Given the description of an element on the screen output the (x, y) to click on. 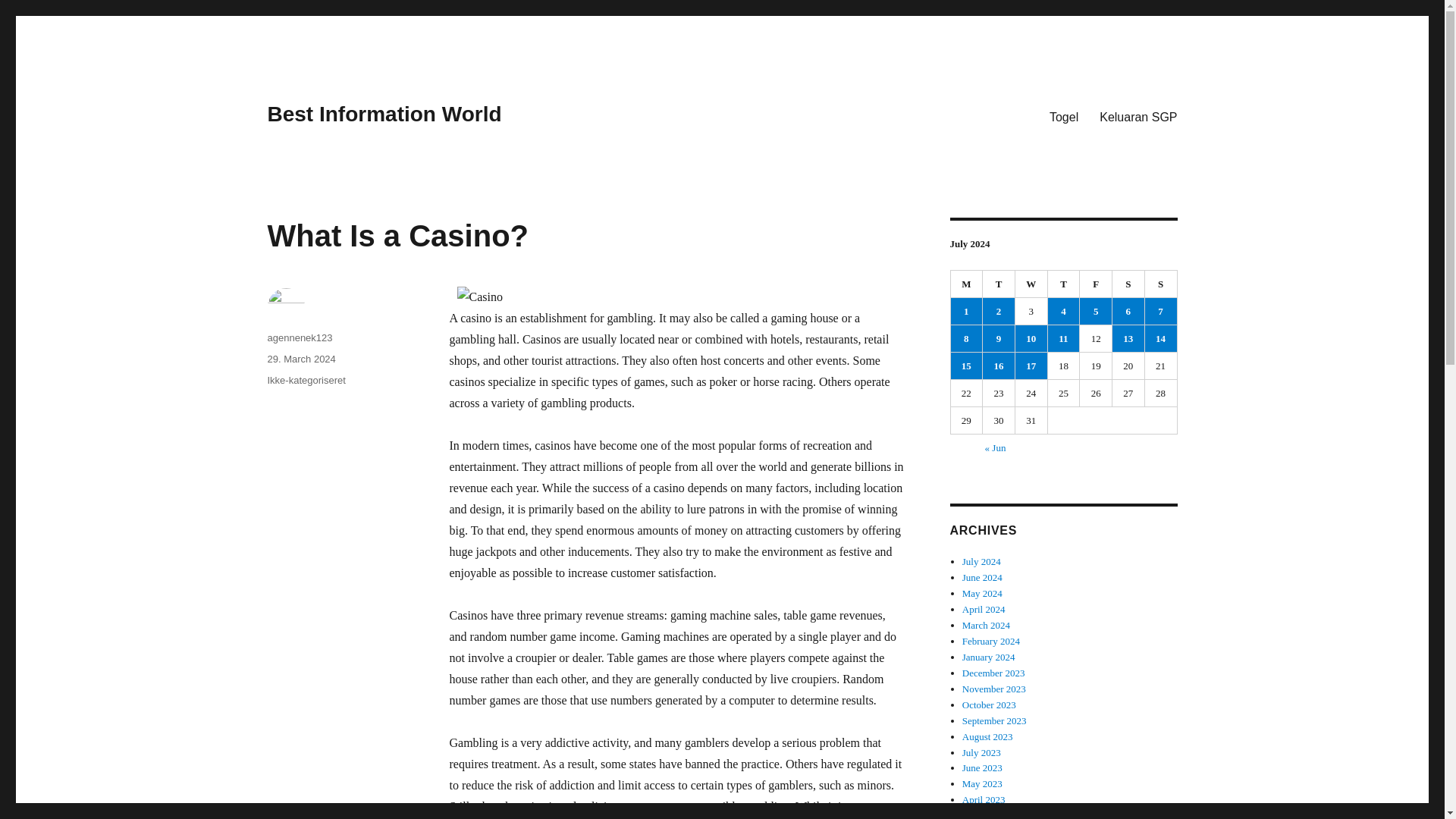
6 (1128, 311)
5 (1096, 311)
10 (1030, 338)
March 2024 (986, 624)
9 (998, 338)
16 (998, 365)
8 (966, 338)
11 (1064, 338)
17 (1030, 365)
Keluaran SGP (1138, 116)
Friday (1096, 284)
December 2023 (993, 672)
Thursday (1064, 284)
4 (1064, 311)
Best Information World (383, 114)
